Given the description of an element on the screen output the (x, y) to click on. 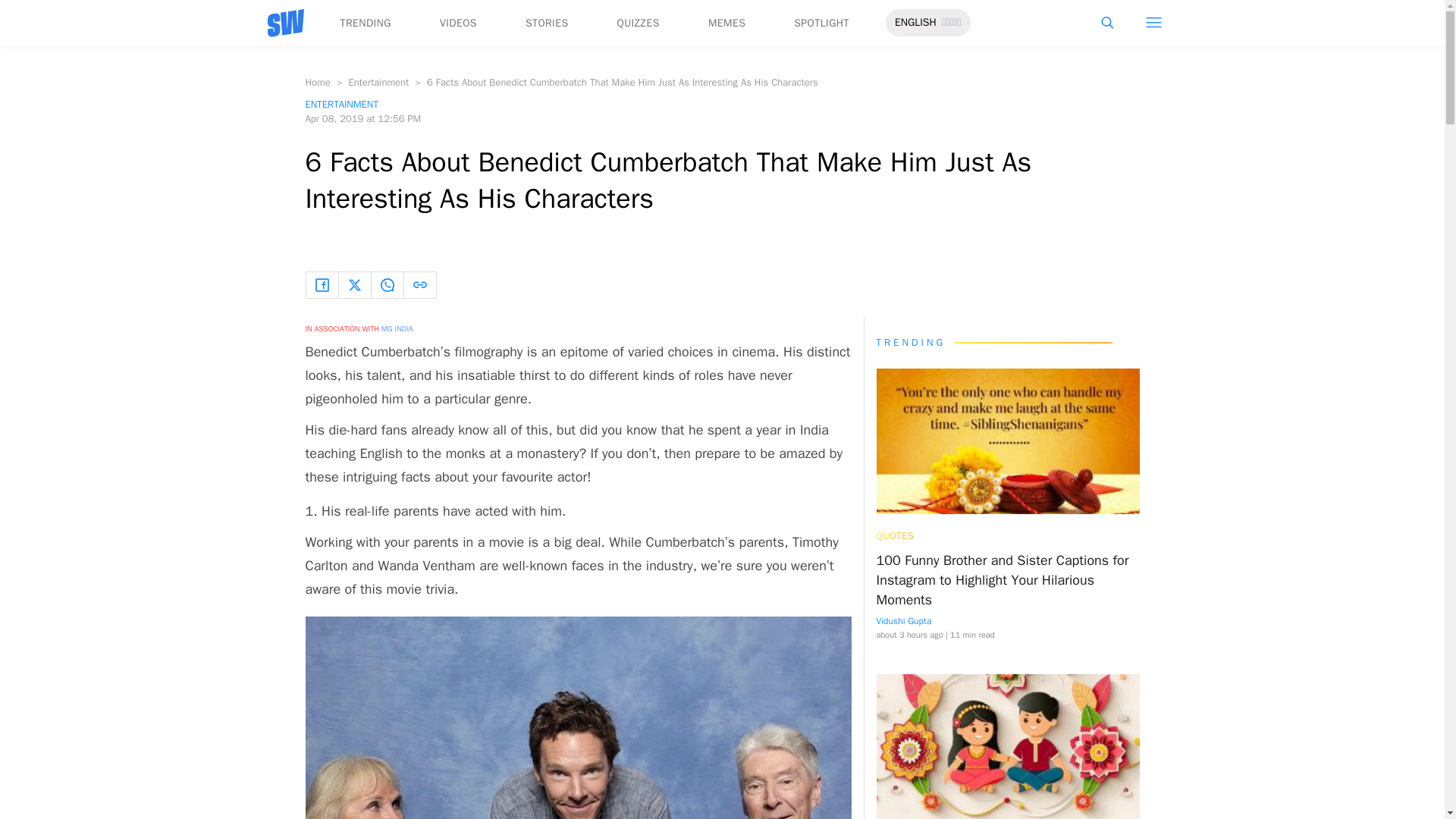
SPOTLIGHT (820, 22)
VIDEOS (458, 22)
STORIES (547, 22)
ENGLISH (915, 22)
TRENDING (364, 22)
QUIZZES (638, 22)
MEMES (726, 22)
